Given the description of an element on the screen output the (x, y) to click on. 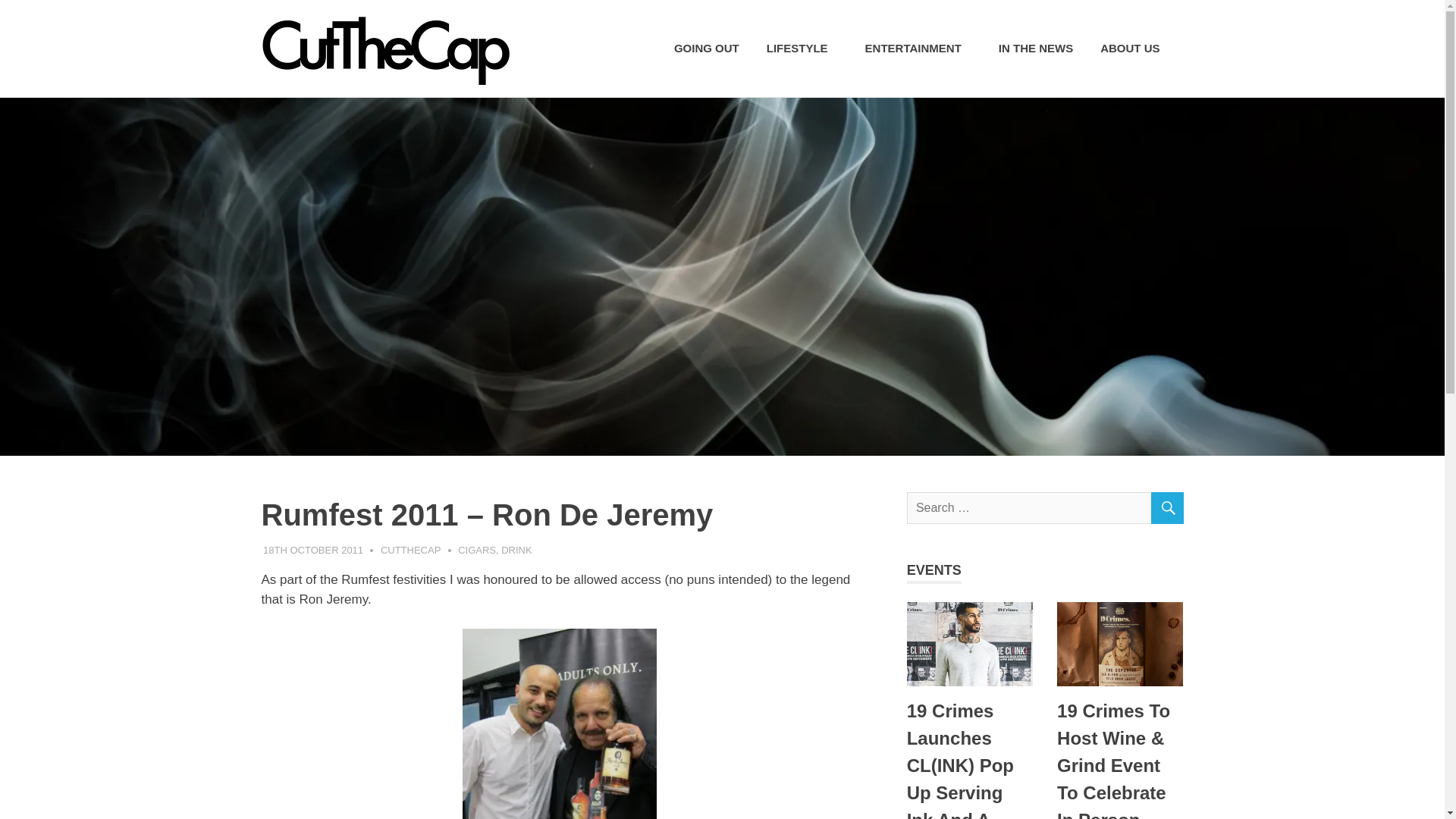
CUTTHECAP (410, 550)
View all posts by cutthecap (410, 550)
18TH OCTOBER 2011 (312, 550)
Search for: (1045, 508)
EVENTS (933, 570)
ENTERTAINMENT (918, 48)
GOING OUT (706, 48)
View all posts from category Events (933, 570)
Ron Jeremy Rumfest 2011 (559, 723)
LIFESTYLE (801, 48)
DRINK (515, 550)
CIGARS (477, 550)
ABOUT US (1134, 48)
IN THE NEWS (1035, 48)
12:52 pm (312, 550)
